Given the description of an element on the screen output the (x, y) to click on. 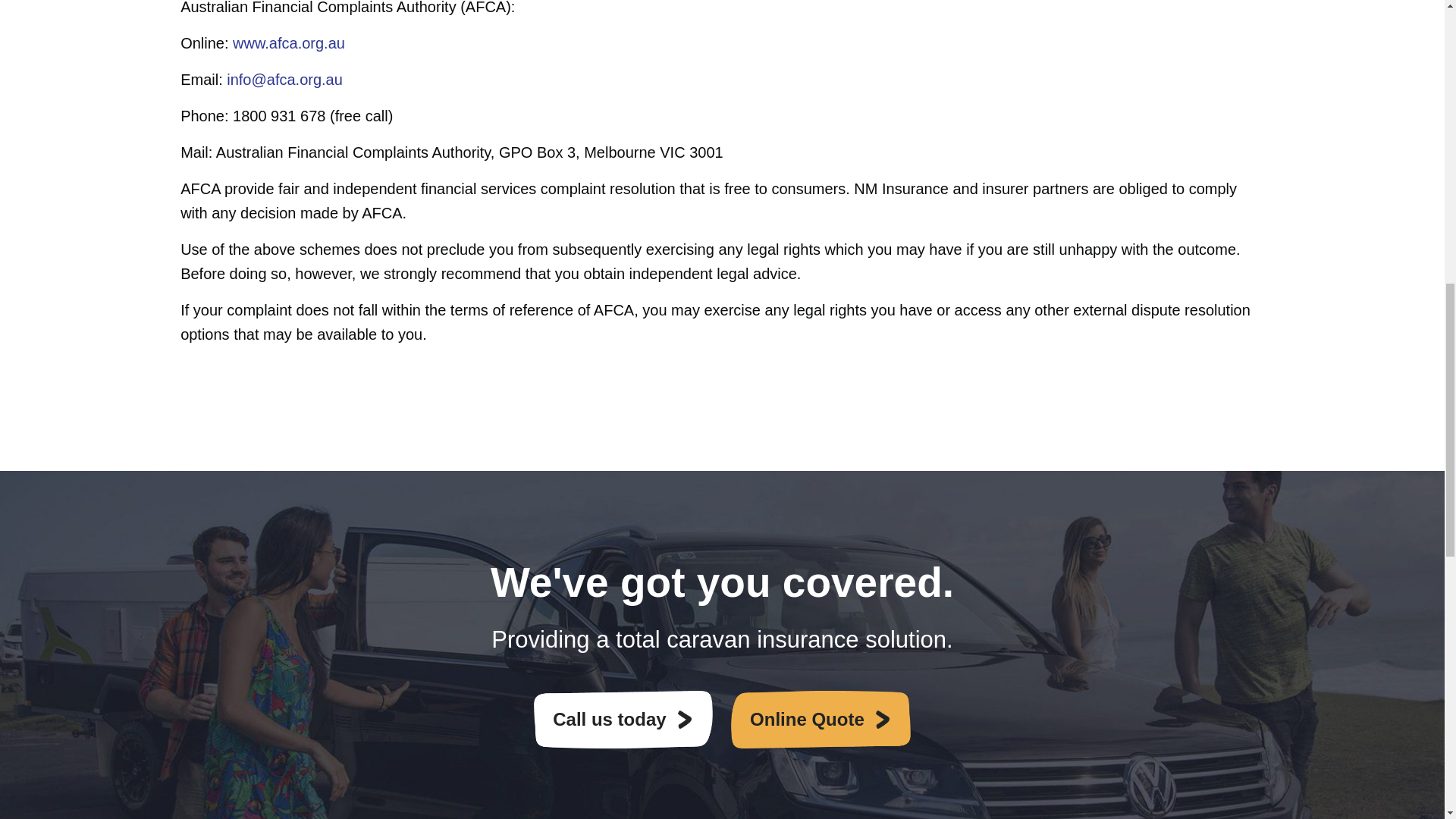
www.afca.org.au (288, 43)
Online Quote (820, 719)
Call us today (622, 719)
